Given the description of an element on the screen output the (x, y) to click on. 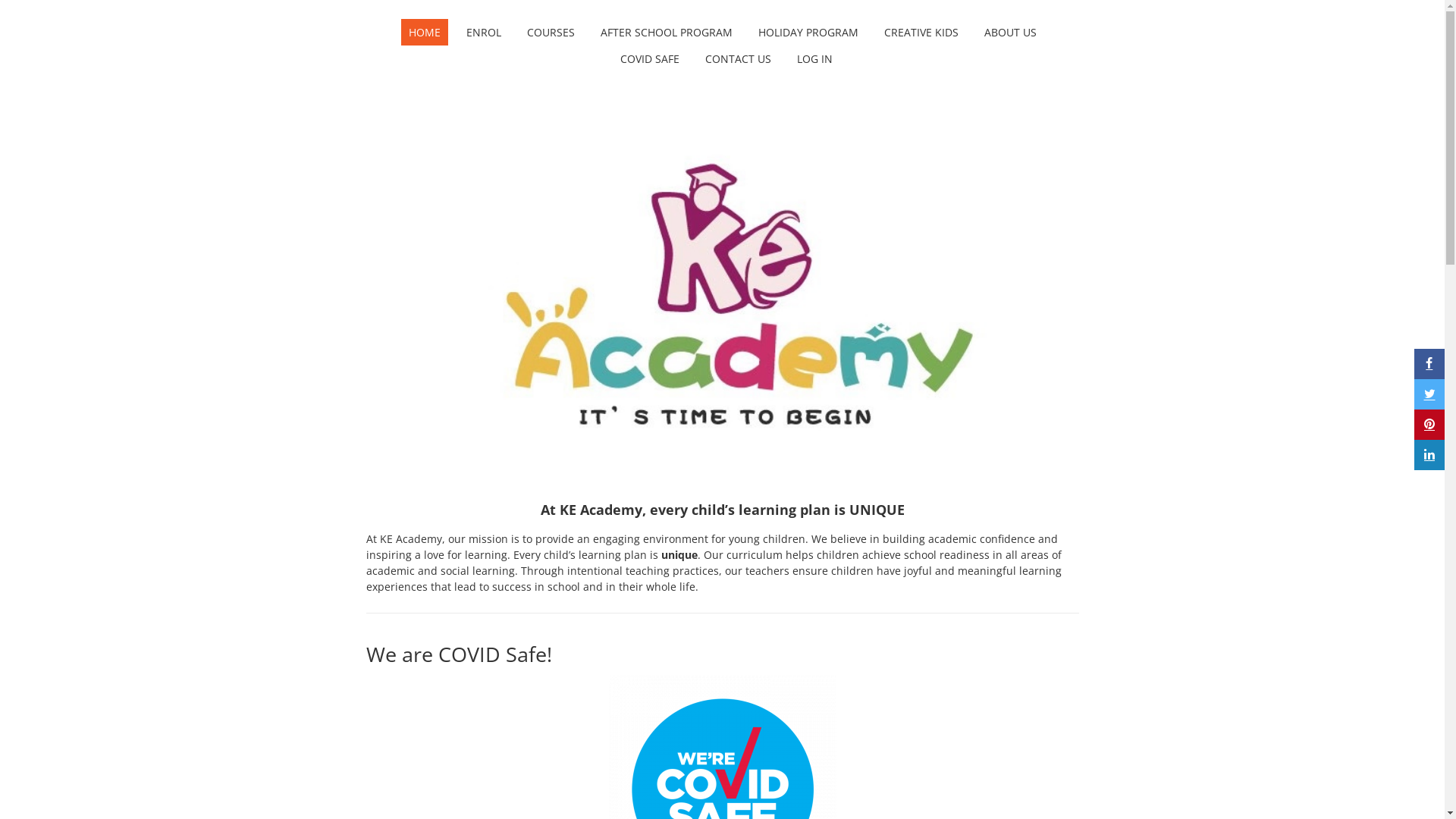
CONTACT US Element type: text (737, 58)
AFTER SCHOOL PROGRAM Element type: text (666, 31)
ENROL Element type: text (483, 31)
CREATIVE KIDS Element type: text (921, 31)
ABOUT US Element type: text (1010, 31)
COURSES Element type: text (549, 31)
HOLIDAY PROGRAM Element type: text (808, 31)
LOG IN Element type: text (813, 58)
HOME Element type: text (423, 31)
COVID SAFE Element type: text (649, 58)
